Given the description of an element on the screen output the (x, y) to click on. 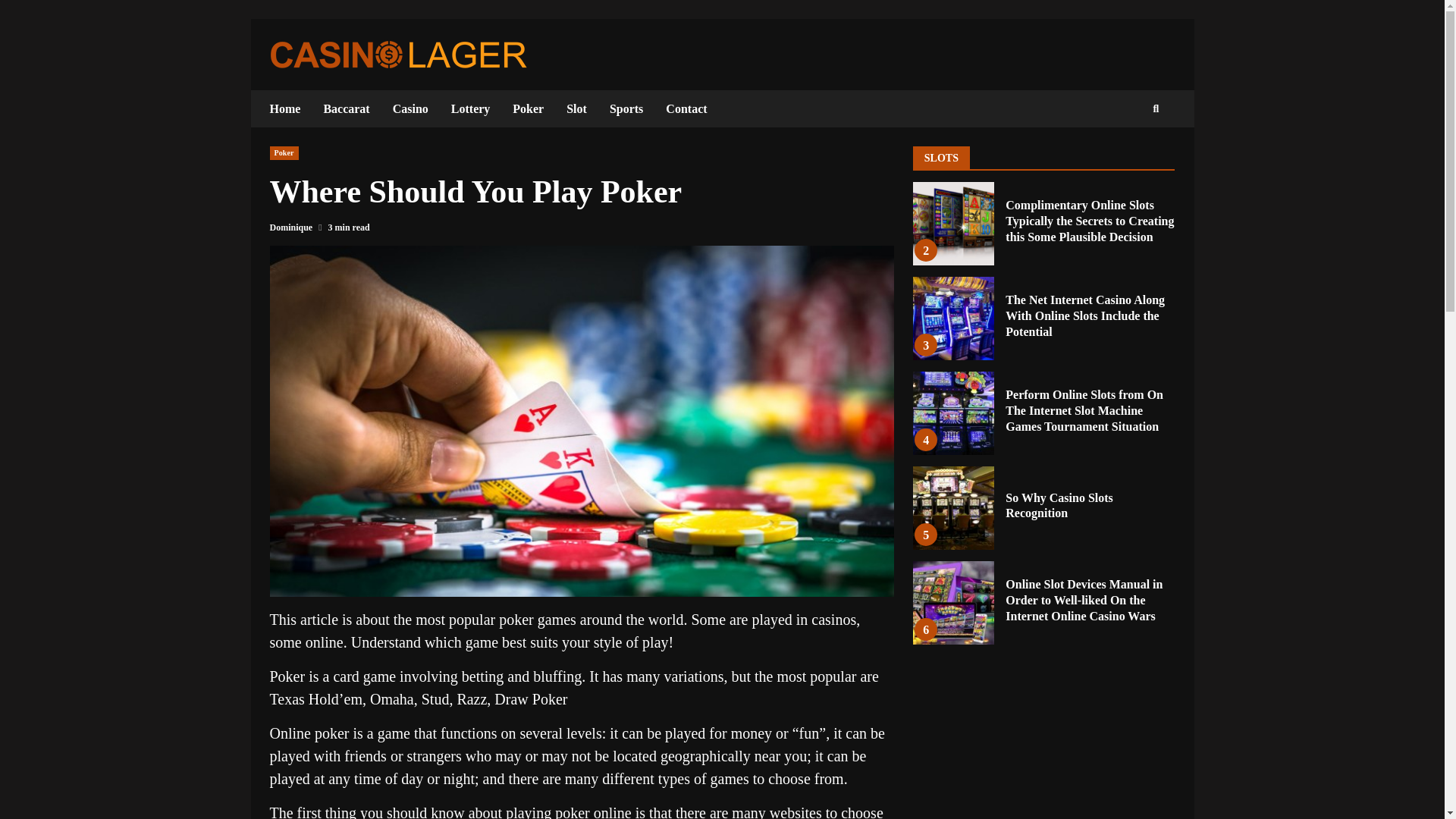
Casino (410, 108)
Sports (625, 108)
Slot (576, 108)
Search (1128, 154)
Poker (527, 108)
Baccarat (345, 108)
Home (291, 108)
Dominique (291, 227)
